Given the description of an element on the screen output the (x, y) to click on. 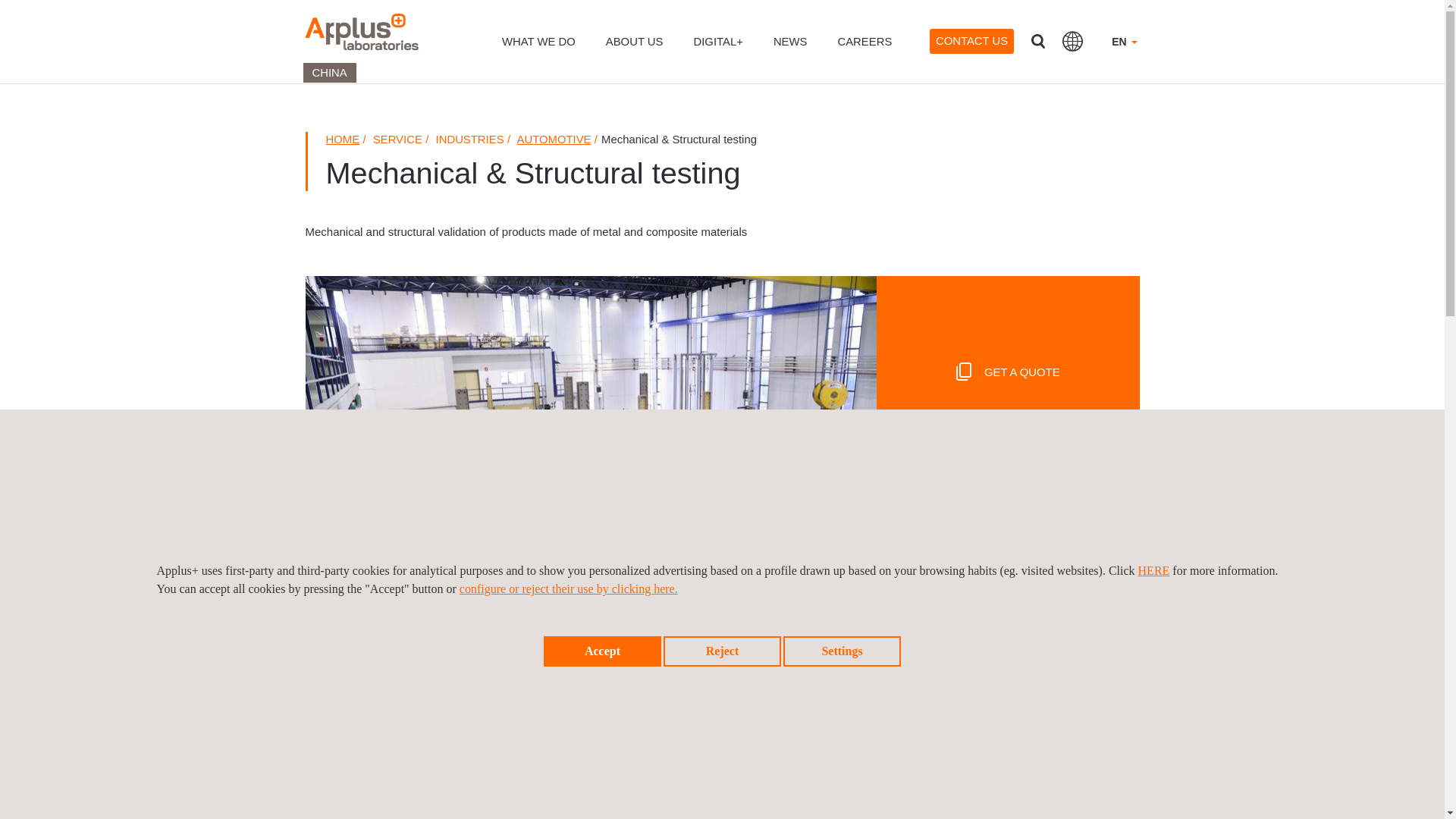
EN (1123, 51)
Search (1037, 41)
WHAT WE DO (538, 51)
Countries (1071, 40)
